Given the description of an element on the screen output the (x, y) to click on. 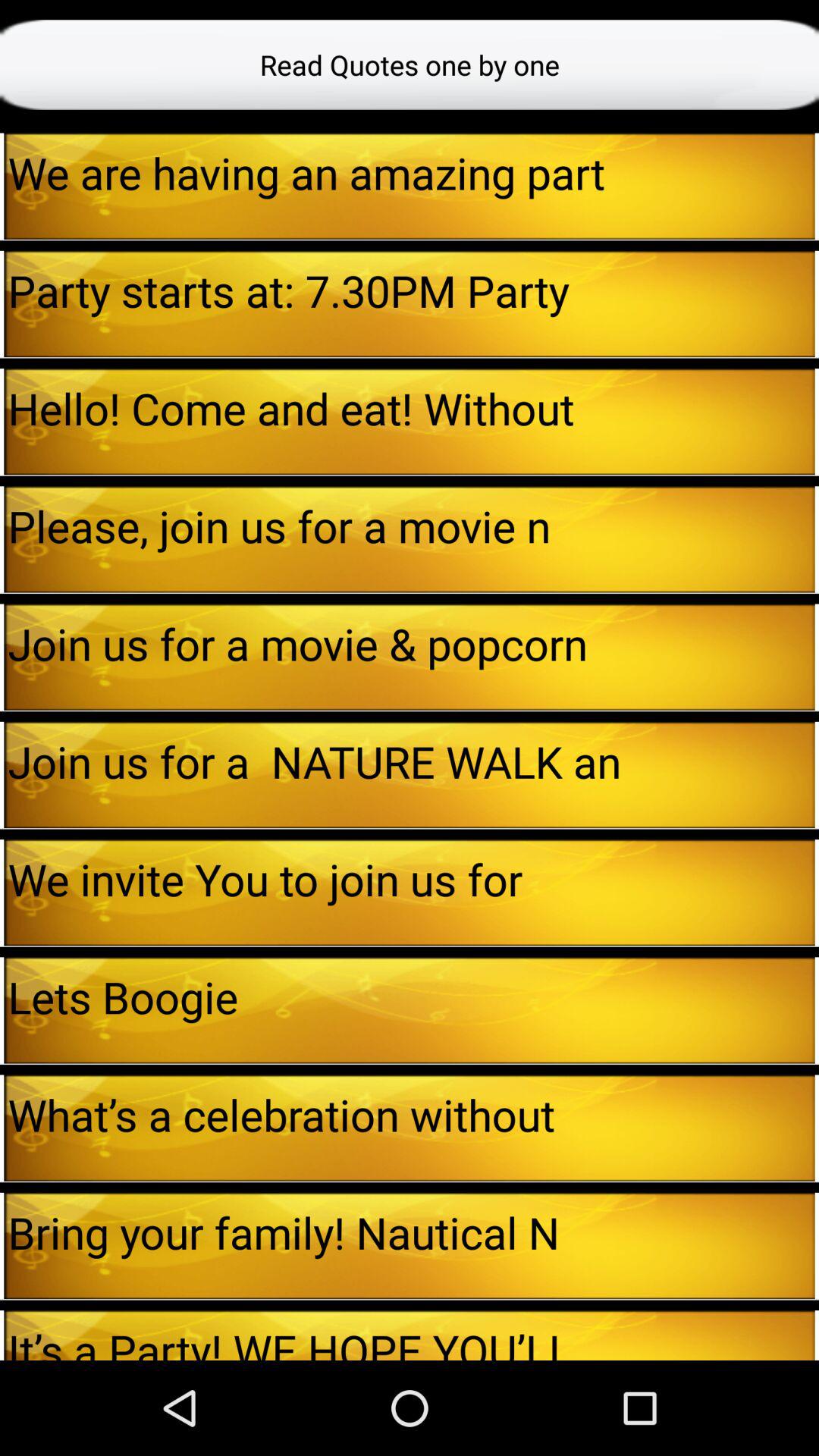
open we are having item (411, 172)
